Given the description of an element on the screen output the (x, y) to click on. 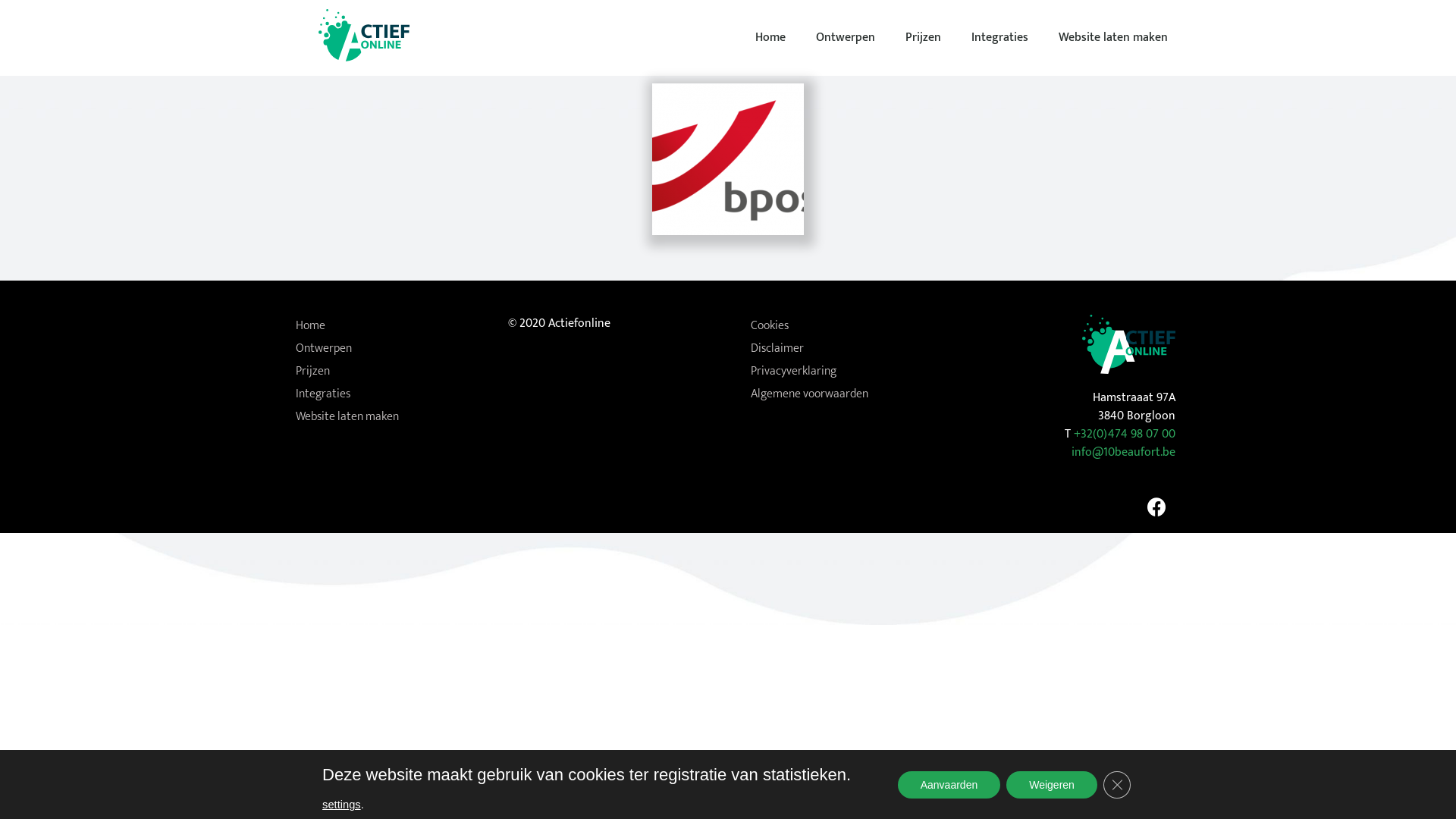
Home Element type: text (770, 37)
Prijzen Element type: text (386, 371)
Aanvaarden Element type: text (949, 783)
+32(0)474 98 07 00 Element type: text (1124, 433)
Ontwerpen Element type: text (386, 348)
Disclaimer Element type: text (841, 348)
Weigeren Element type: text (1051, 783)
Cookies Element type: text (841, 325)
Integraties Element type: text (386, 393)
Home Element type: text (386, 325)
Sluit GDPR (AVG) cookie banner Element type: text (1116, 783)
Screenshot 2020-05-15 at 21.29.10 Element type: hover (727, 159)
Ontwerpen Element type: text (845, 37)
Prijzen Element type: text (923, 37)
Integraties Element type: text (999, 37)
settings Element type: text (341, 804)
info@10beaufort.be Element type: text (1123, 452)
Website laten maken Element type: text (1113, 37)
Algemene voorwaarden Element type: text (841, 393)
Privacyverklaring Element type: text (841, 371)
Website laten maken Element type: text (386, 416)
